Given the description of an element on the screen output the (x, y) to click on. 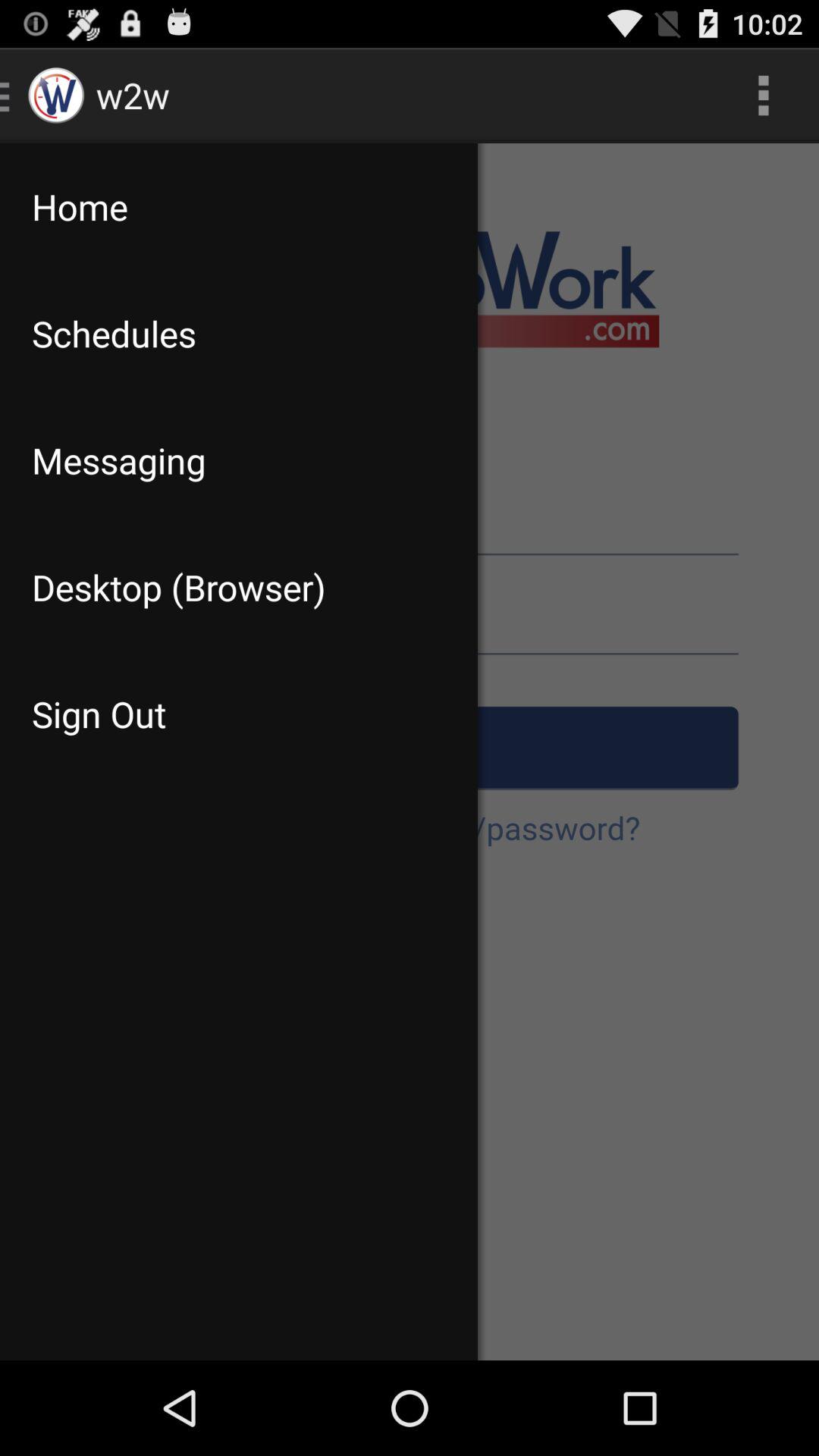
select the item below desktop (browser) item (238, 714)
